Given the description of an element on the screen output the (x, y) to click on. 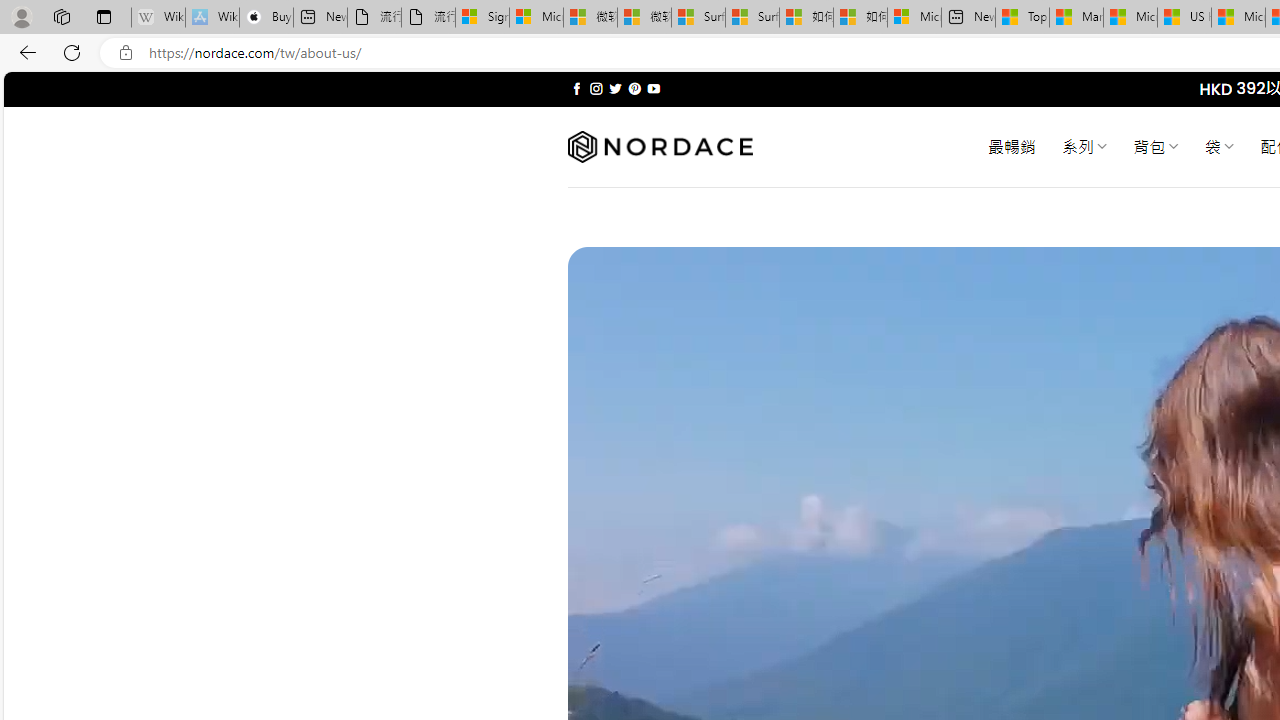
Follow on YouTube (653, 88)
Follow on Twitter (615, 88)
